Given the description of an element on the screen output the (x, y) to click on. 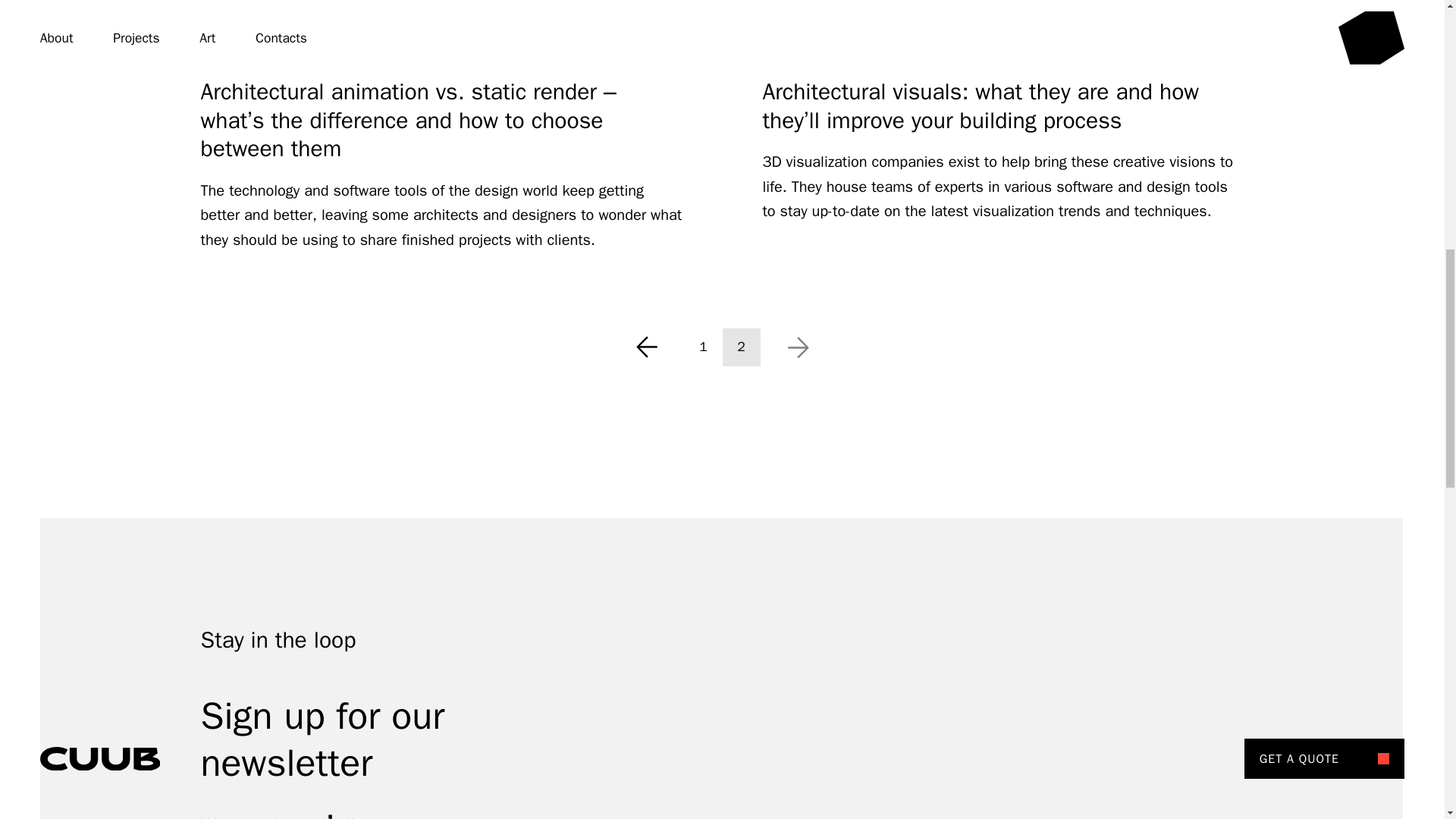
1 (703, 347)
Previous page (646, 347)
